Given the description of an element on the screen output the (x, y) to click on. 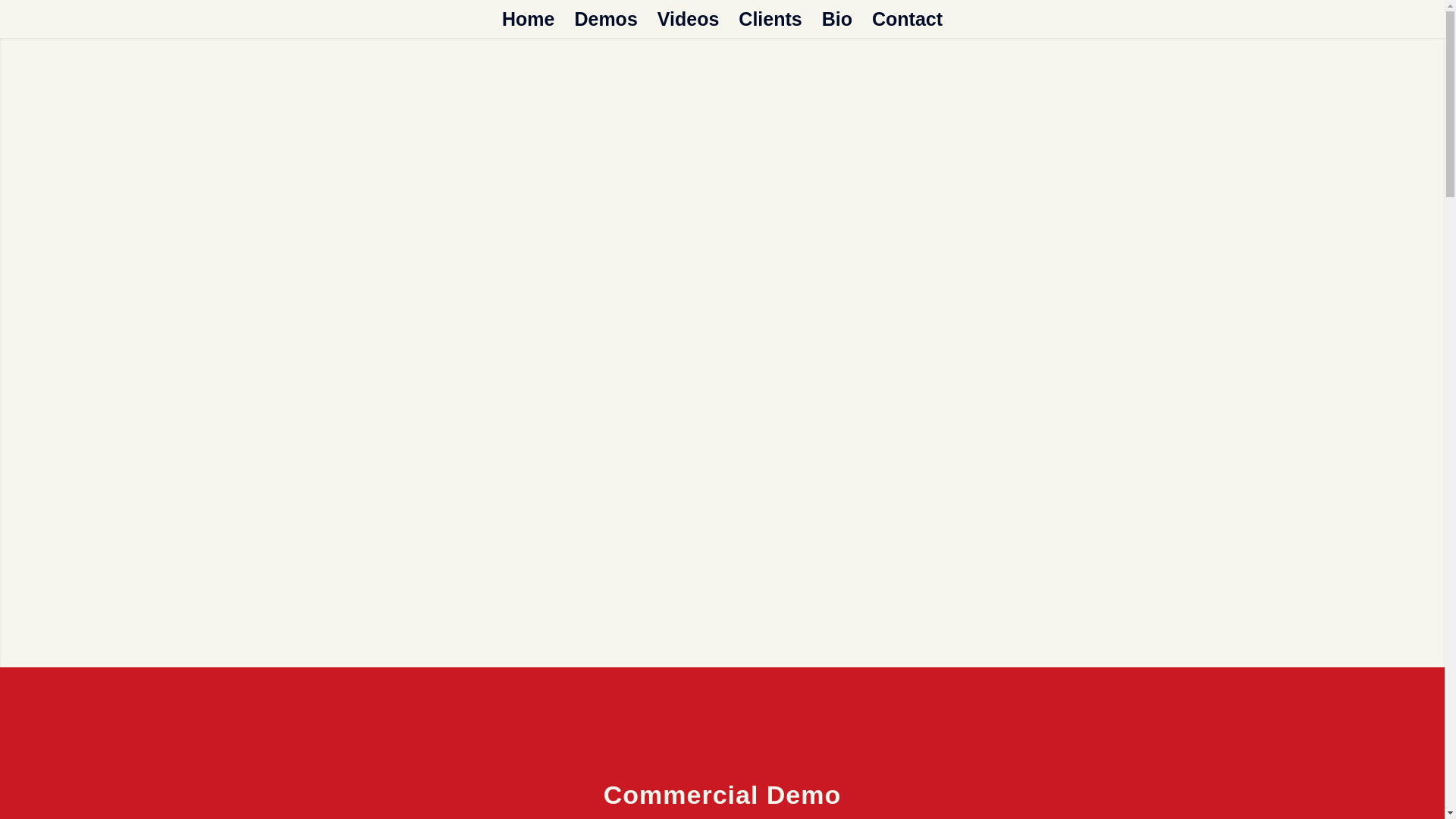
Home (528, 18)
Contact (906, 18)
Demos (605, 18)
Bio (836, 18)
Clients (769, 18)
Videos (688, 18)
